Given the description of an element on the screen output the (x, y) to click on. 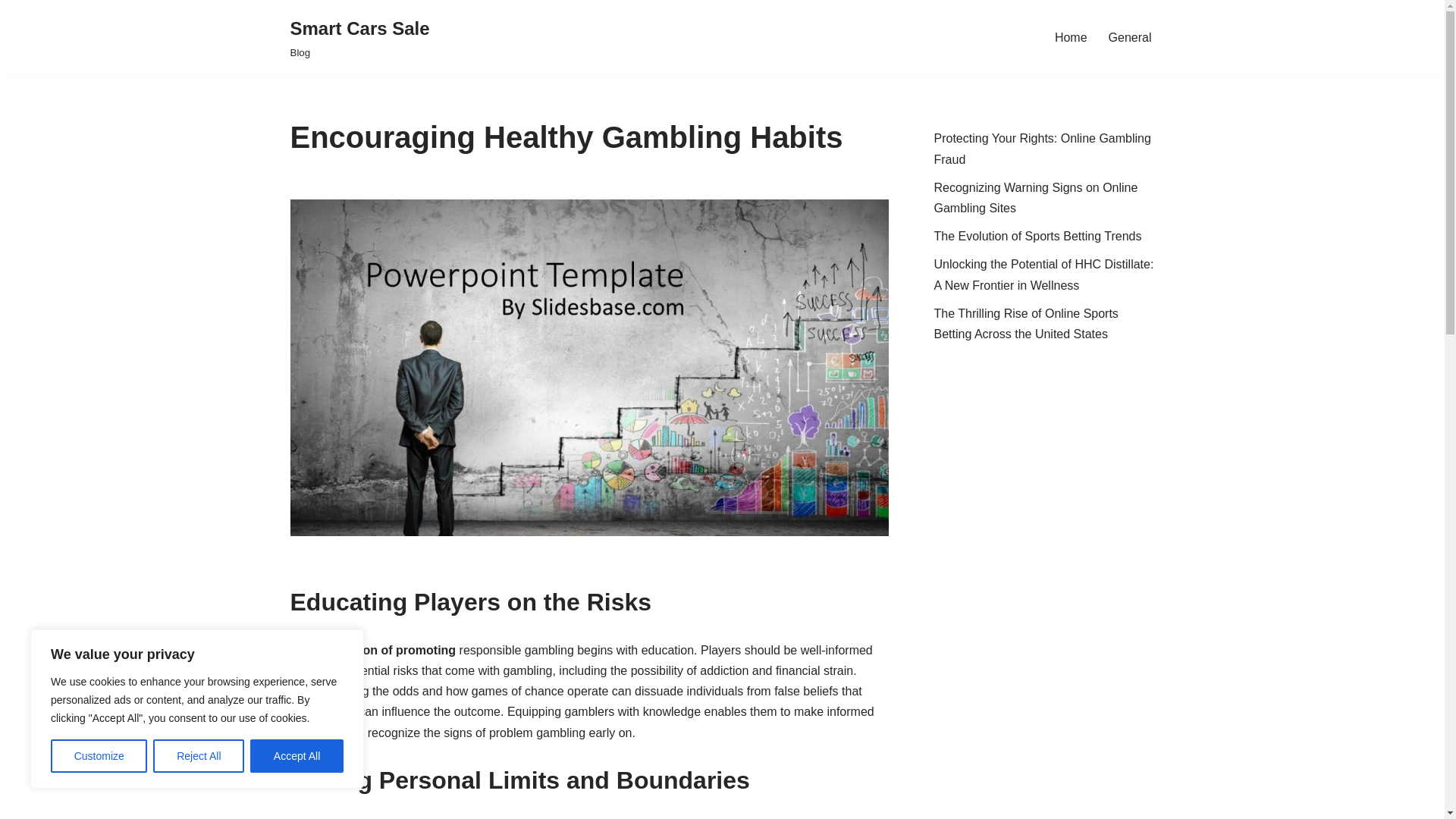
Reject All (198, 756)
Customize (98, 756)
Protecting Your Rights: Online Gambling Fraud (359, 37)
The Evolution of Sports Betting Trends (1042, 148)
Skip to content (1037, 236)
Recognizing Warning Signs on Online Gambling Sites (11, 31)
Home (1036, 197)
Accept All (1070, 37)
General (296, 756)
